Given the description of an element on the screen output the (x, y) to click on. 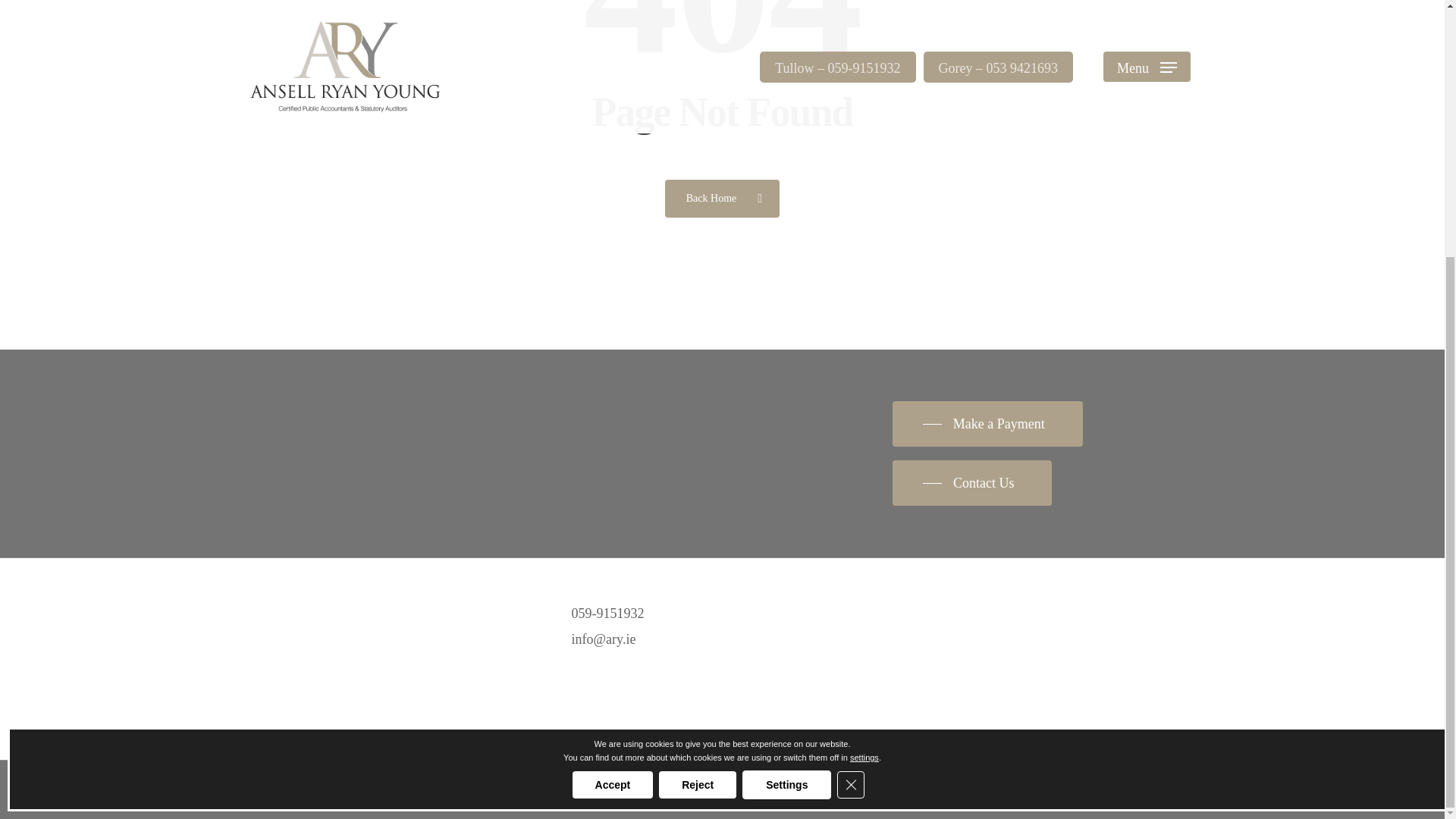
Make a Payment (987, 423)
Terms (447, 789)
059-9151932 (608, 613)
Back Home (721, 198)
Cookies (497, 789)
Privacy (399, 789)
Website by Practice Hook (600, 789)
Contact Us (972, 483)
Accept (612, 419)
